Given the description of an element on the screen output the (x, y) to click on. 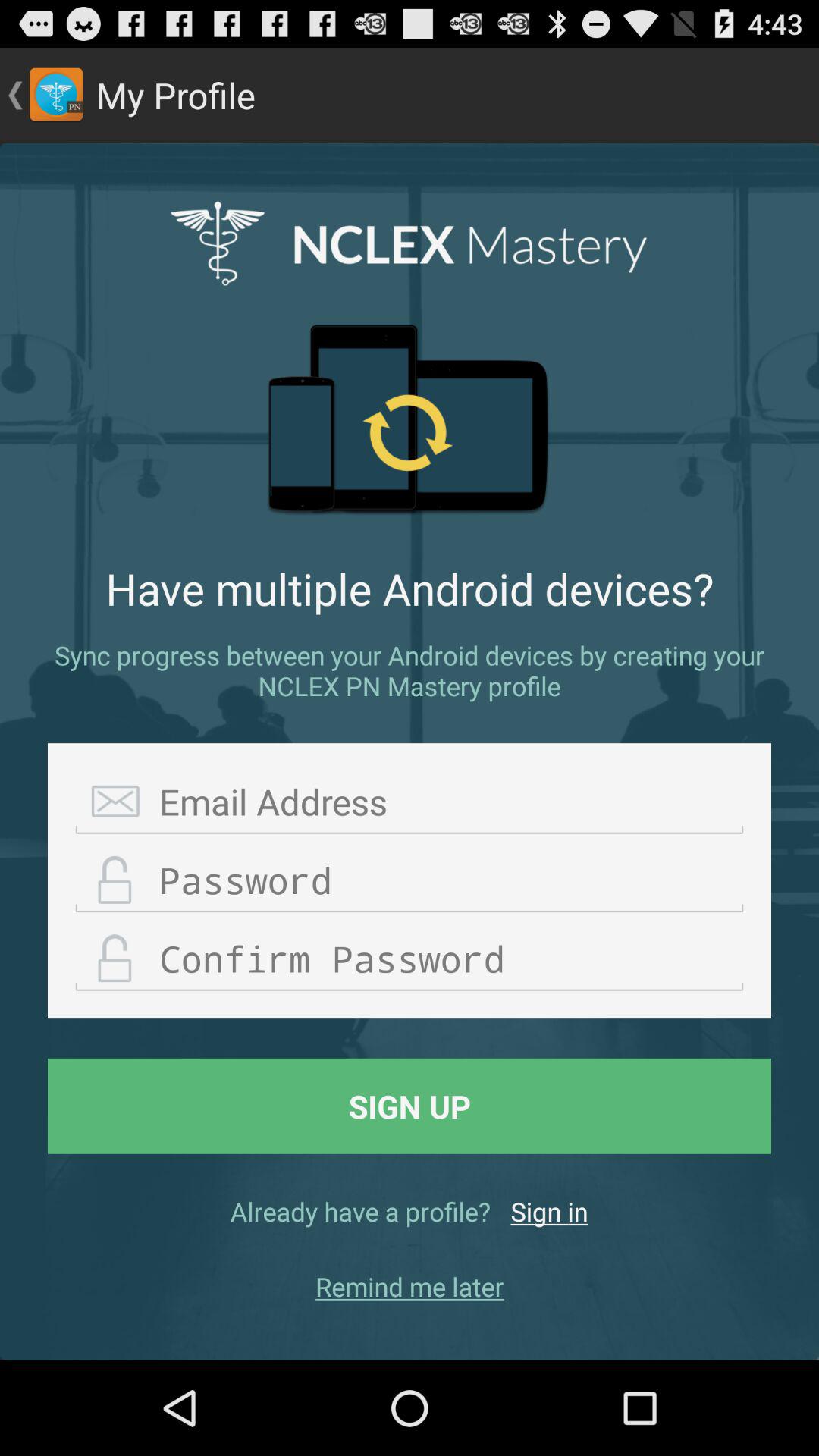
turn off app below already have a icon (409, 1286)
